Given the description of an element on the screen output the (x, y) to click on. 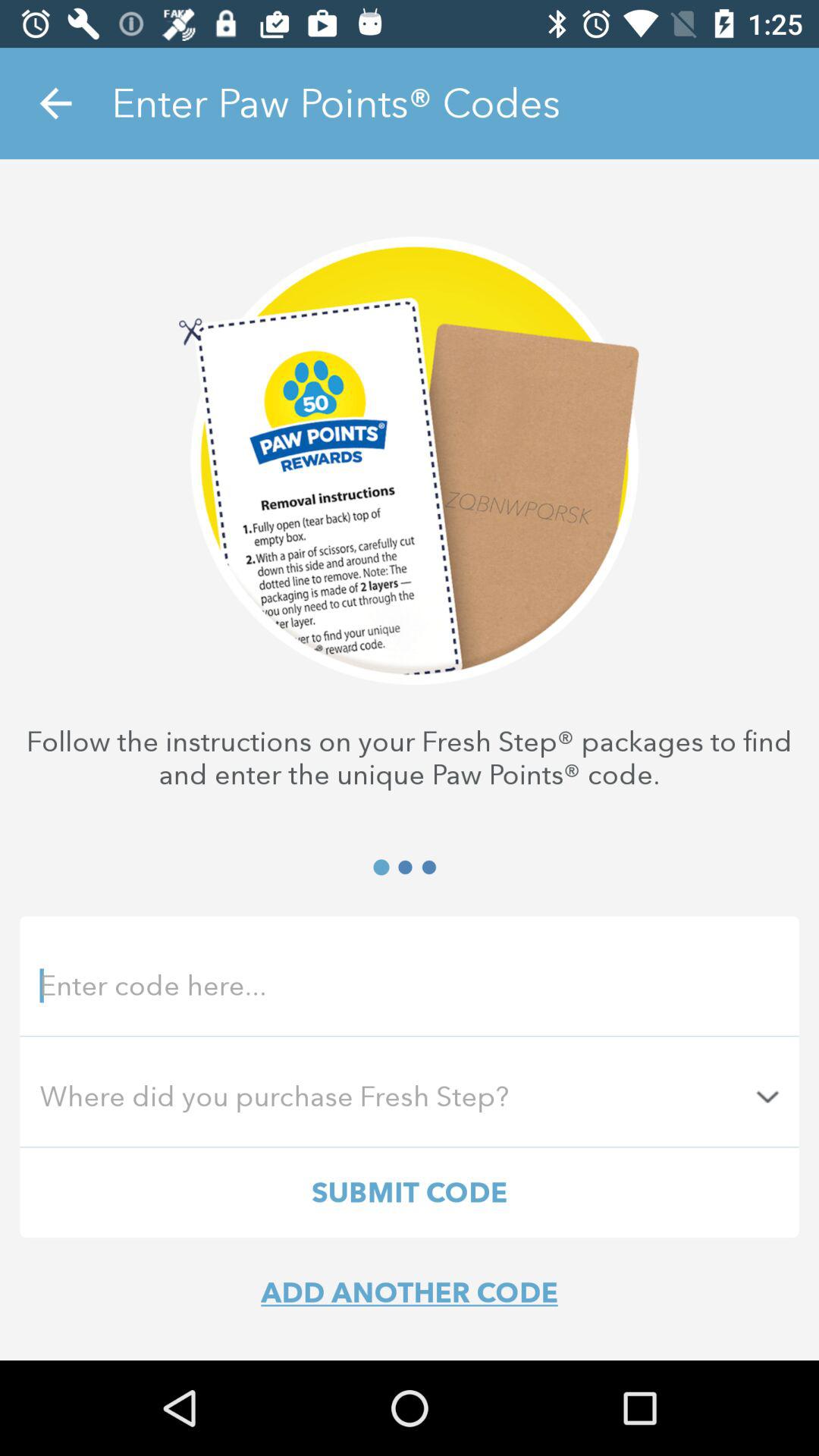
tap the item above the add another code (409, 1192)
